Given the description of an element on the screen output the (x, y) to click on. 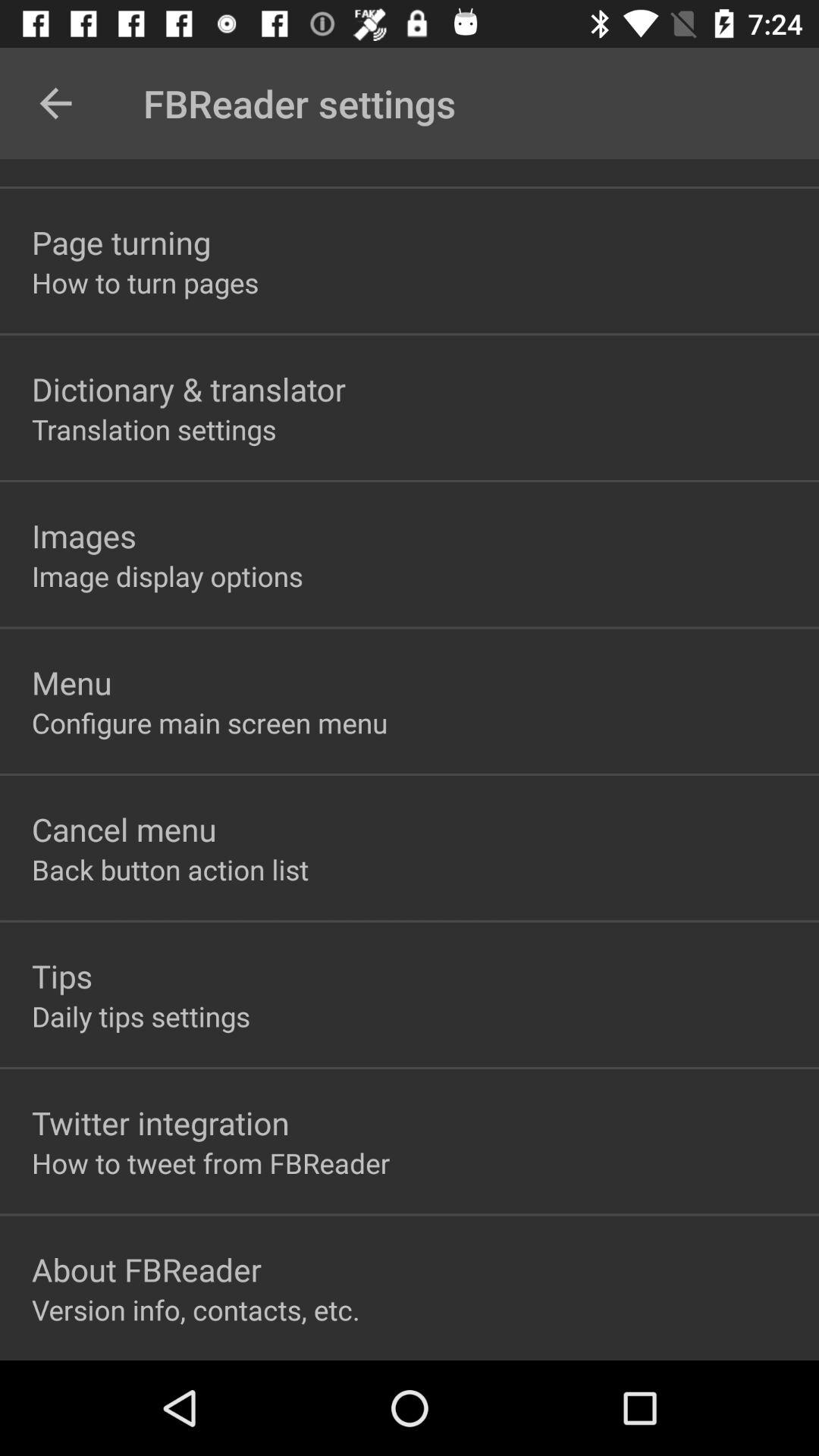
launch icon above how to turn (121, 241)
